Given the description of an element on the screen output the (x, y) to click on. 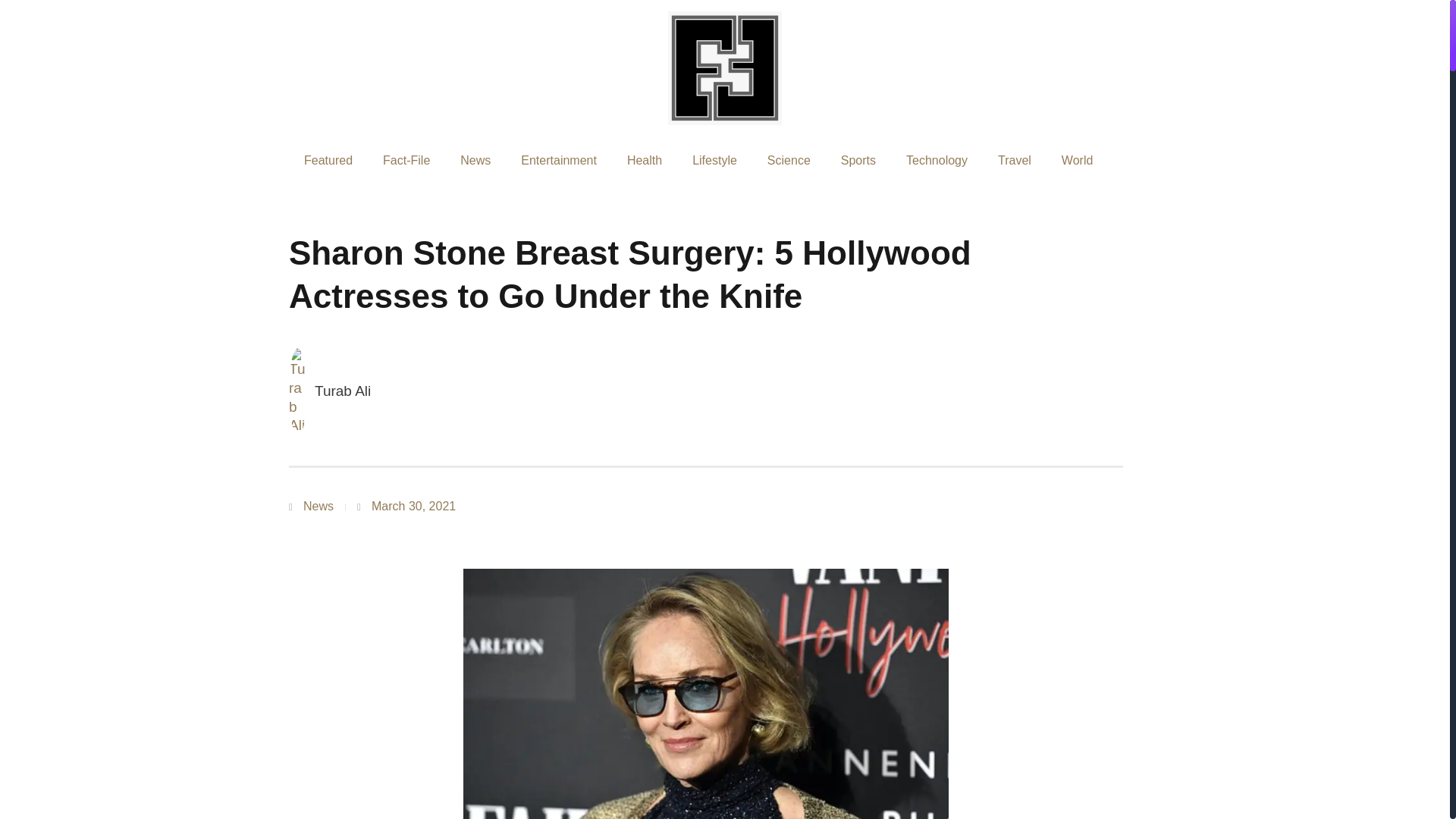
News (317, 505)
Lifestyle (714, 160)
Turab Ali (329, 391)
Science (788, 160)
Technology (936, 160)
Fact-File (406, 160)
Travel (1014, 160)
Featured (328, 160)
March 30, 2021 (405, 506)
Health (644, 160)
